Given the description of an element on the screen output the (x, y) to click on. 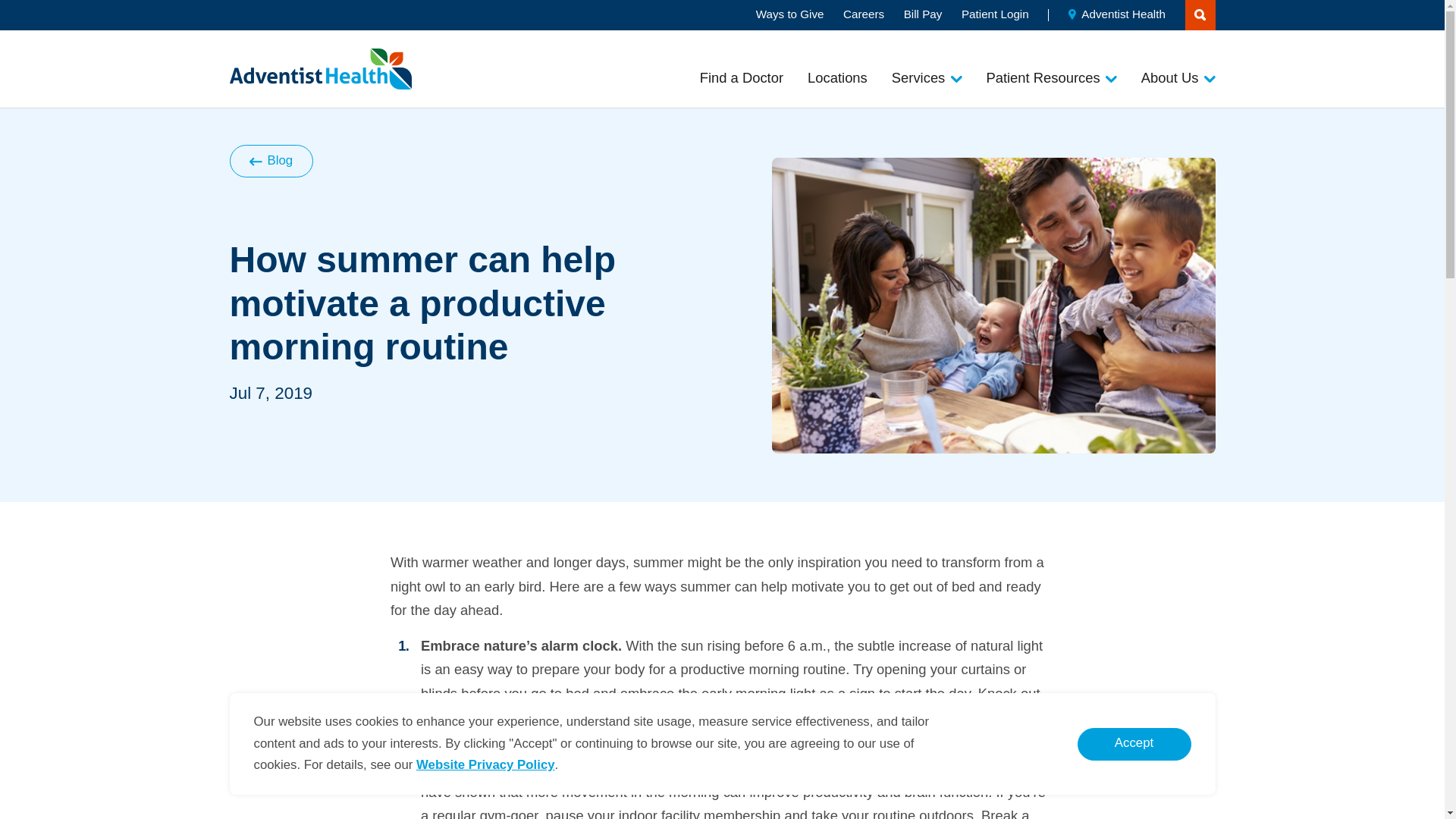
Bill Pay (923, 14)
Find a Doctor (741, 77)
Adventist Health (1117, 14)
Locations (837, 77)
Ways to Give (789, 14)
Careers (863, 14)
Patient Login (994, 14)
Services (926, 77)
